Given the description of an element on the screen output the (x, y) to click on. 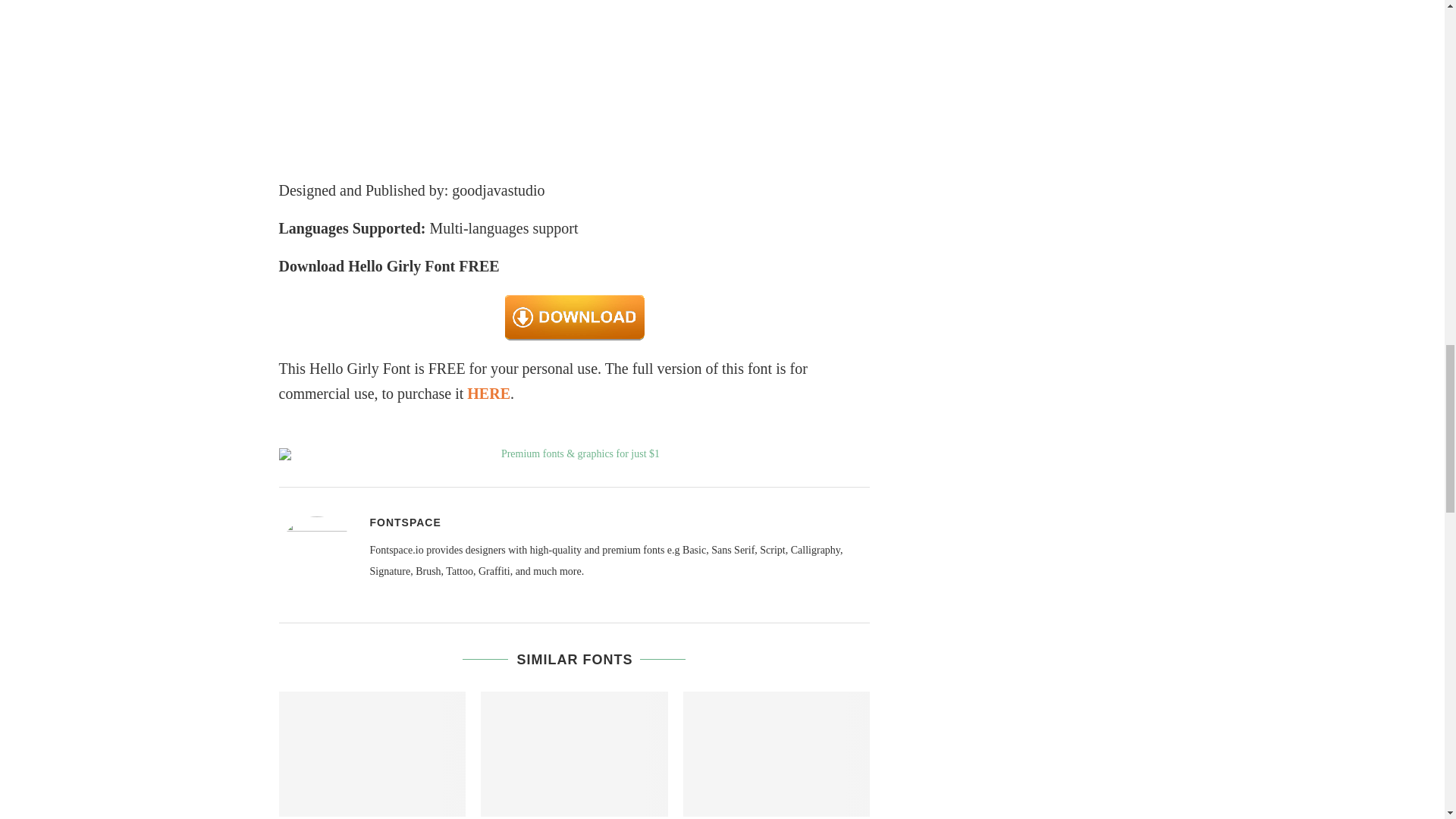
Posts by Fontspace (405, 522)
Salty Mussy Font (574, 753)
Shining Monday Font (776, 753)
Groovy Day Font (372, 753)
